Given the description of an element on the screen output the (x, y) to click on. 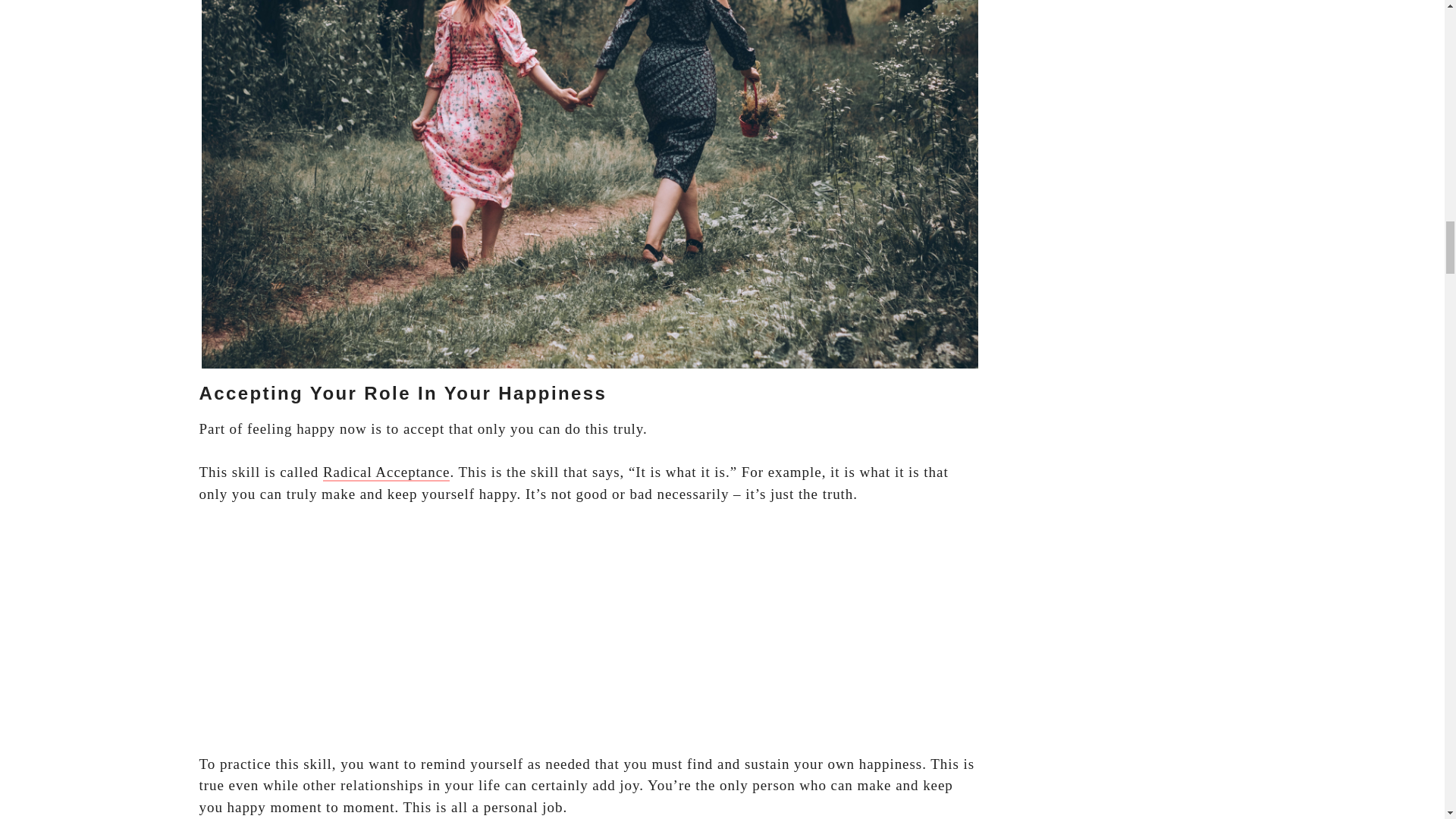
Radical Acceptance (386, 472)
